Given the description of an element on the screen output the (x, y) to click on. 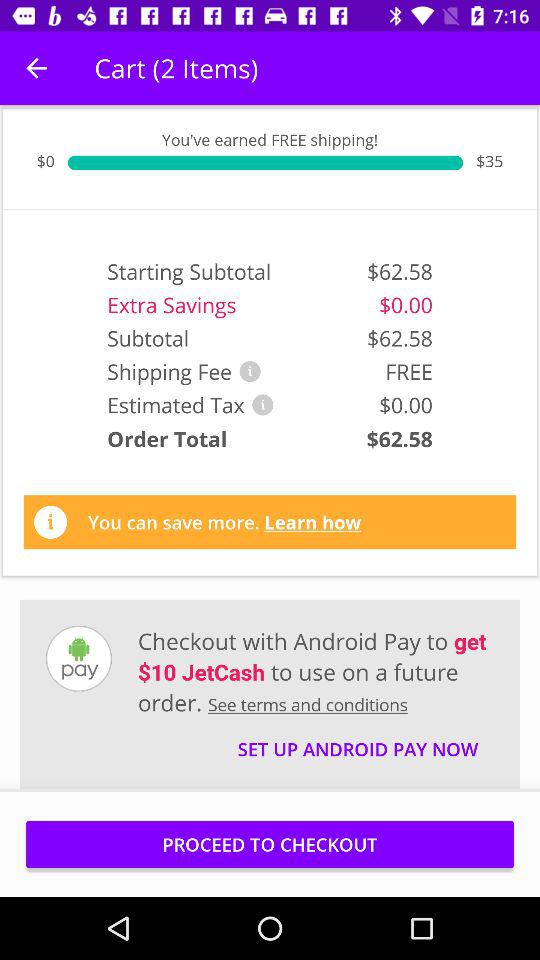
turn on the icon below the checkout with android item (357, 740)
